Given the description of an element on the screen output the (x, y) to click on. 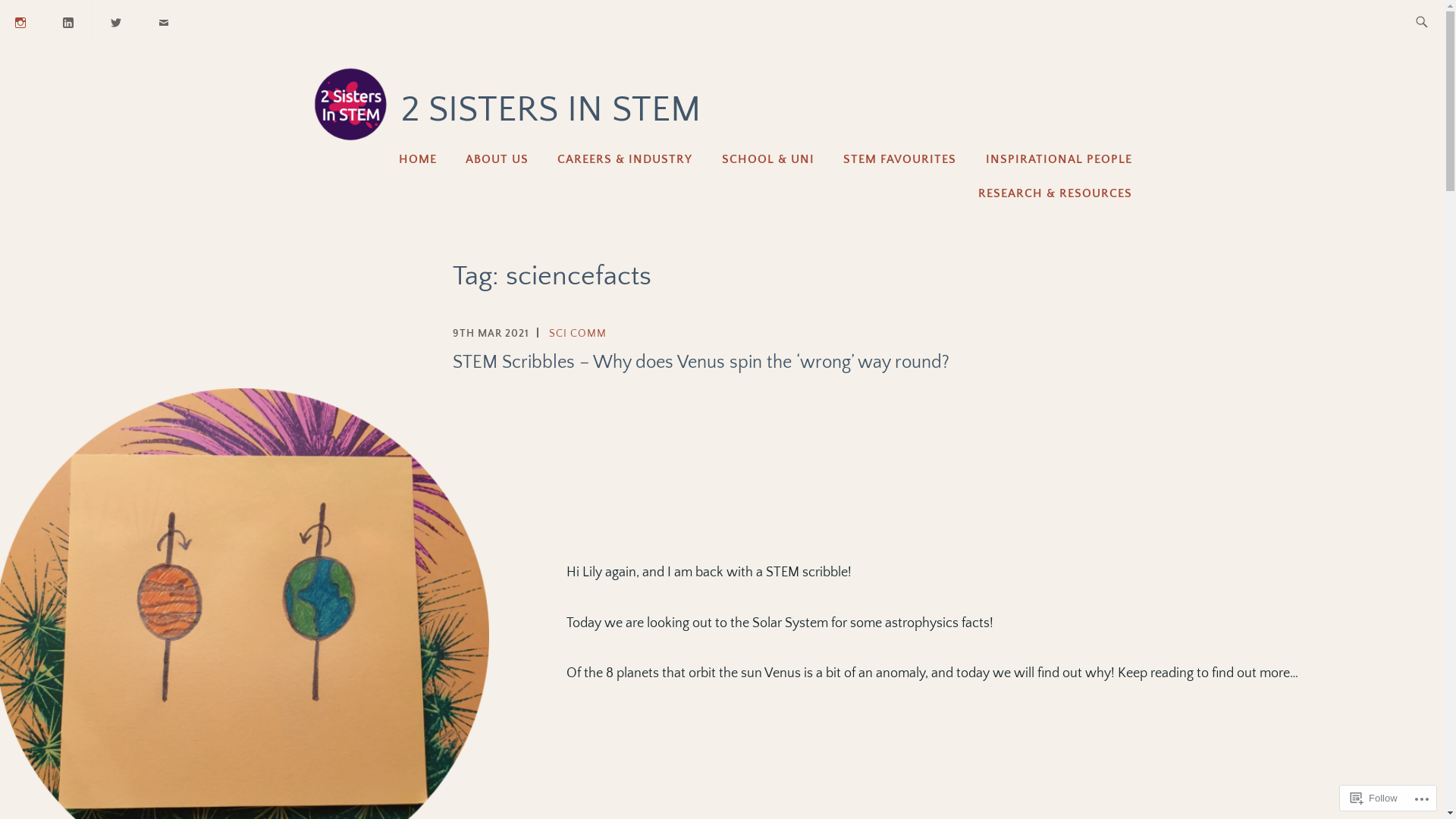
9TH MAR 2021 Element type: text (489, 333)
SCI COMM Element type: text (577, 333)
RESEARCH & RESOURCES Element type: text (1055, 193)
ABOUT US Element type: text (496, 158)
HOME Element type: text (417, 158)
2 SISTERS IN STEM Element type: text (550, 109)
Follow Element type: text (1373, 797)
CAREERS & INDUSTRY Element type: text (624, 158)
STEM FAVOURITES Element type: text (899, 158)
SCHOOL & UNI Element type: text (767, 158)
Search for: Element type: hover (1438, 23)
Search Element type: text (43, 21)
INSPIRATIONAL PEOPLE Element type: text (1058, 158)
